Given the description of an element on the screen output the (x, y) to click on. 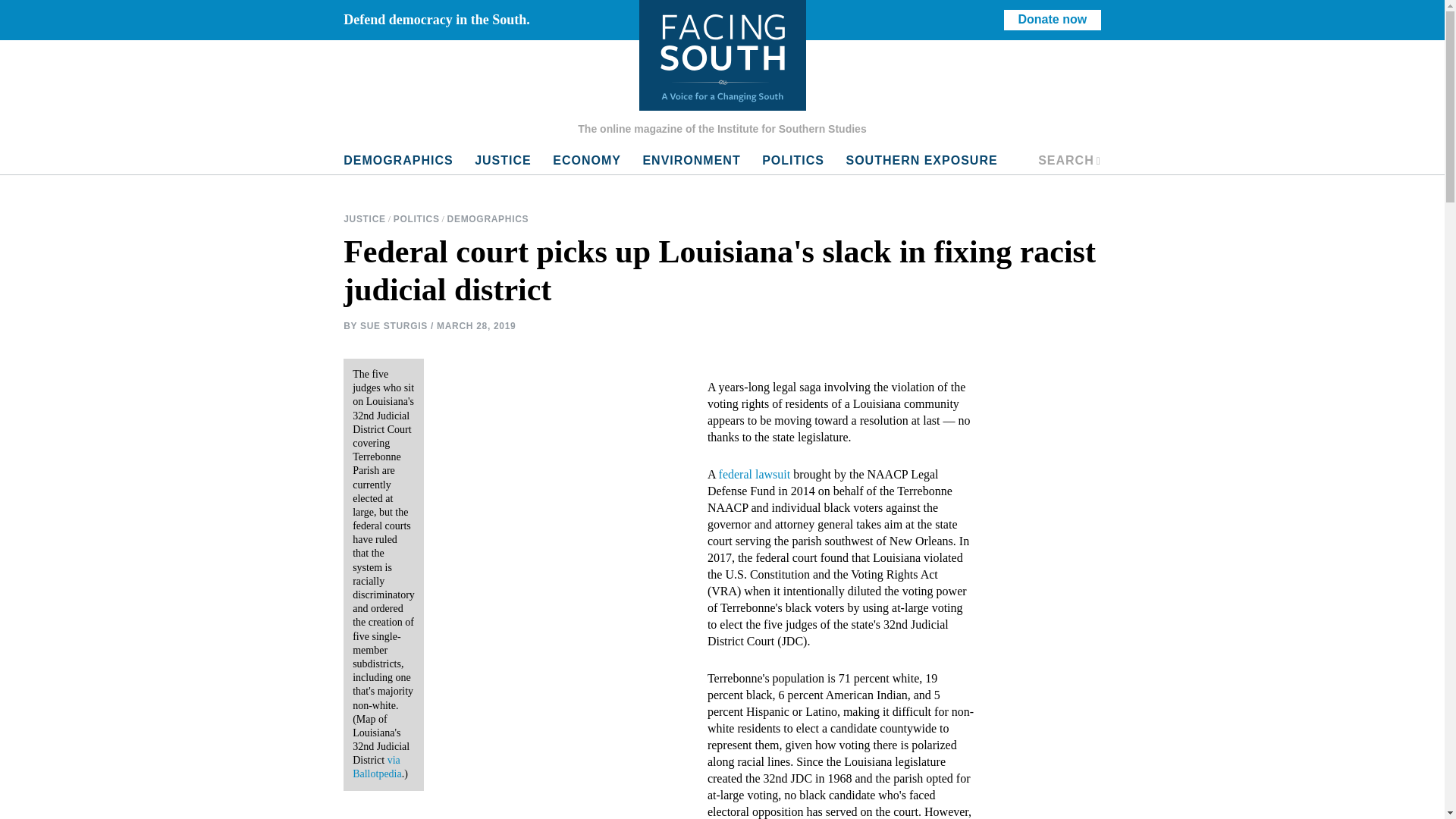
federal lawsuit (754, 473)
ENVIRONMENT (691, 160)
Donate now (1052, 19)
SOUTHERN EXPOSURE (920, 160)
POLITICS (1069, 160)
SUE STURGIS (792, 160)
DEMOGRAPHICS (393, 325)
JUSTICE (488, 219)
POLITICS (502, 160)
ECONOMY (416, 219)
via Ballotpedia (586, 160)
JUSTICE (376, 766)
Skip to main content (365, 219)
